Given the description of an element on the screen output the (x, y) to click on. 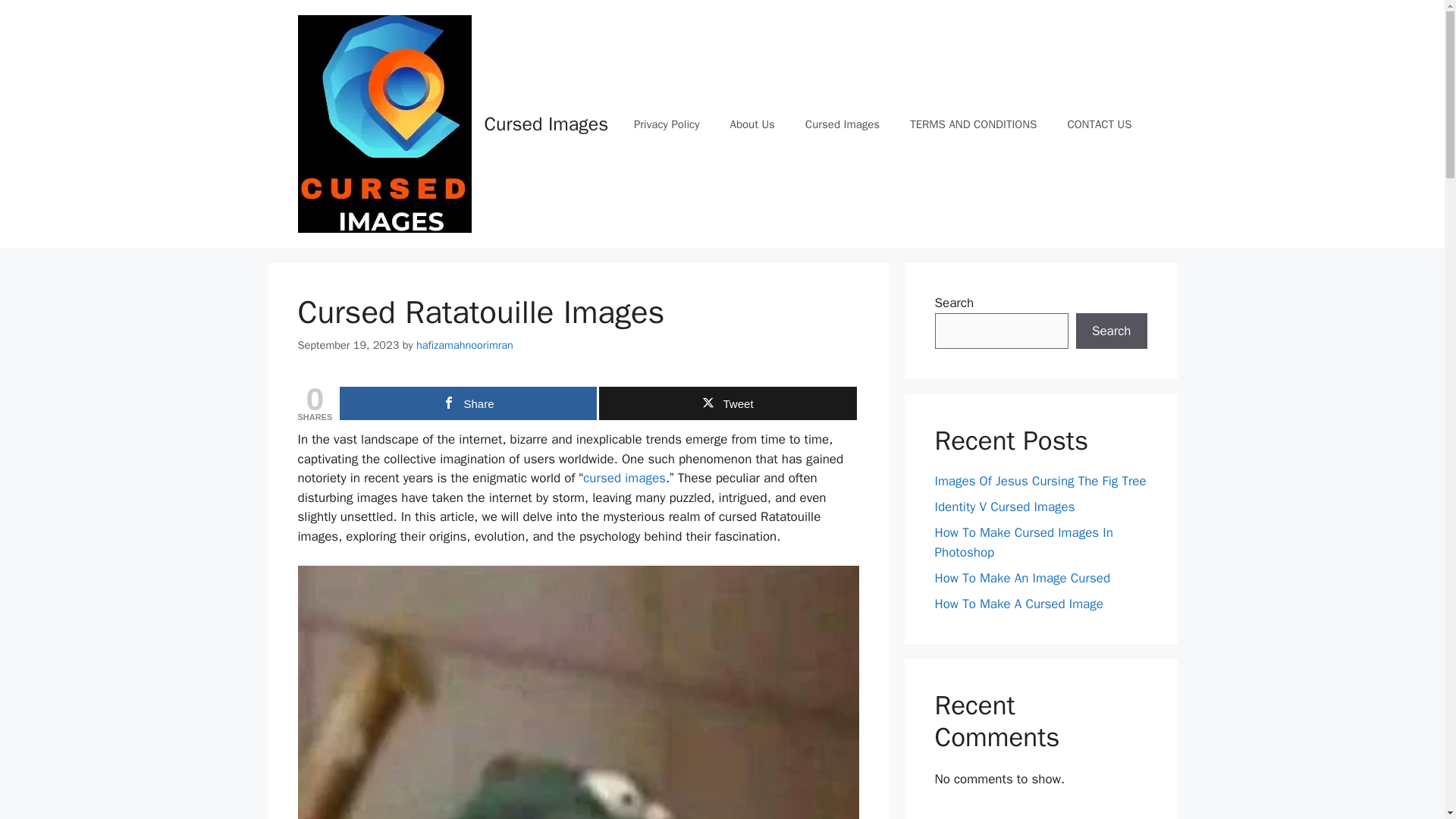
Privacy Policy (666, 124)
Images Of Jesus Cursing The Fig Tree (1039, 480)
Tweet (727, 403)
View all posts by hafizamahnoorimran (464, 345)
Share (467, 403)
Search (1111, 330)
Cursed Images (842, 124)
About Us (752, 124)
cursed images (624, 478)
How To Make Cursed Images In Photoshop (1023, 542)
How To Make A Cursed Image (1018, 603)
TERMS AND CONDITIONS (973, 124)
CONTACT US (1099, 124)
Cursed Images (545, 123)
hafizamahnoorimran (464, 345)
